Given the description of an element on the screen output the (x, y) to click on. 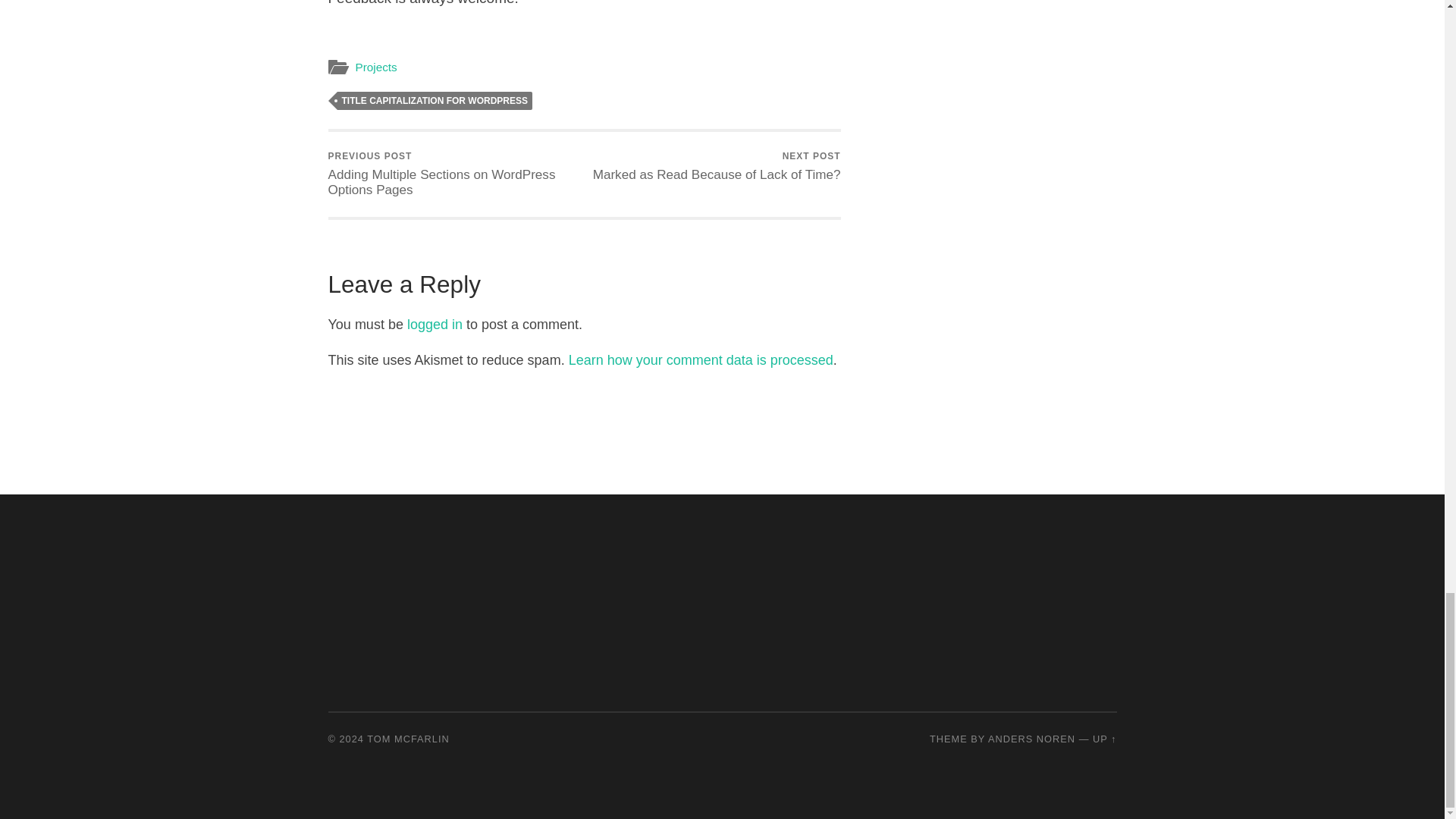
Projects (375, 66)
logged in (716, 165)
Learn how your comment data is processed (435, 324)
To the top (700, 359)
TITLE CAPITALIZATION FOR WORDPRESS (1104, 738)
